Given the description of an element on the screen output the (x, y) to click on. 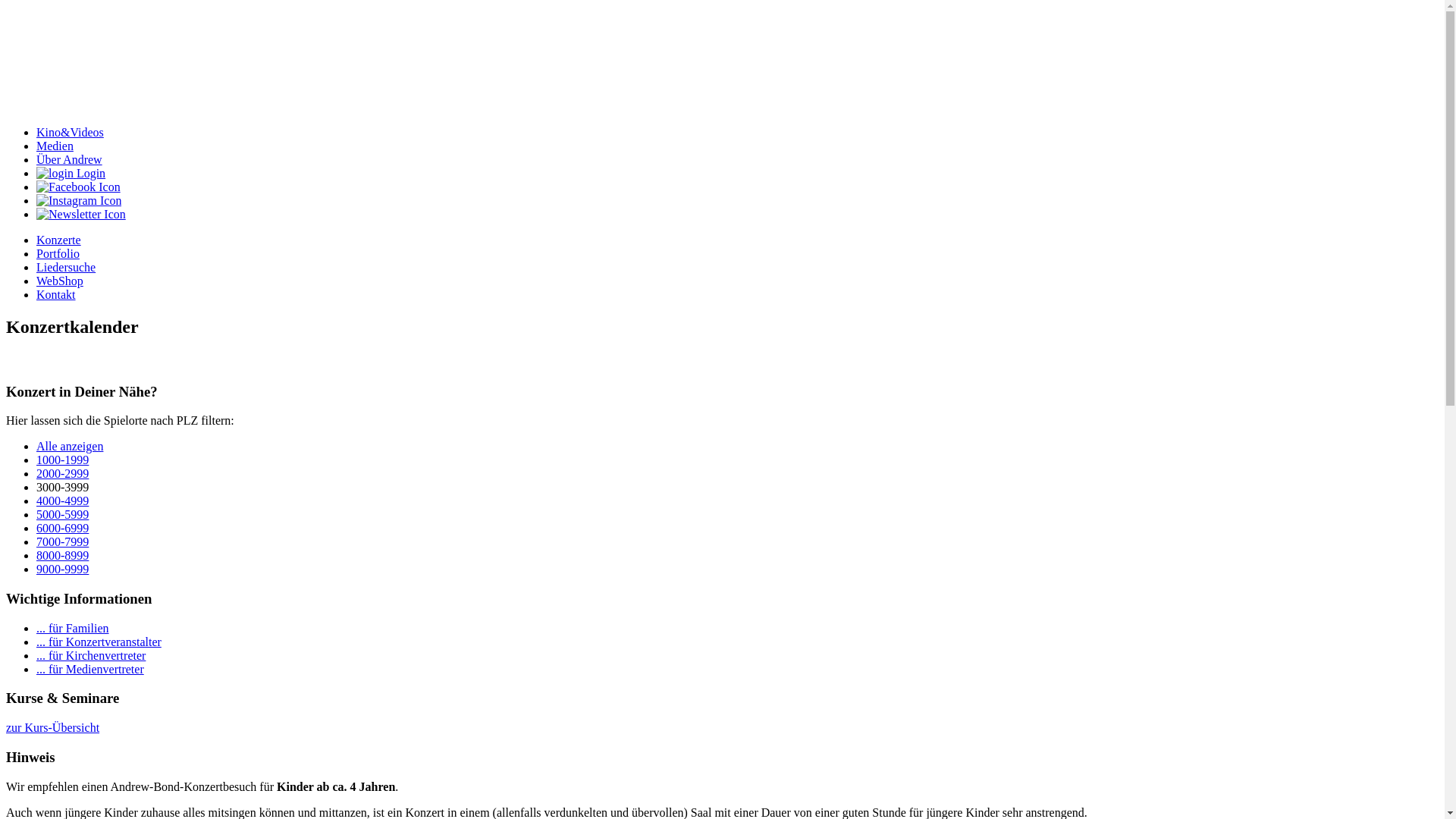
Liedersuche Element type: text (65, 266)
5000-5999 Element type: text (62, 514)
Medien Element type: text (54, 145)
6000-6999 Element type: text (62, 527)
7000-7999 Element type: text (62, 541)
9000-9999 Element type: text (62, 568)
8000-8999 Element type: text (62, 555)
WebShop Element type: text (59, 280)
1000-1999 Element type: text (62, 459)
Portfolio Element type: text (57, 253)
Konzerte Element type: text (58, 239)
Kino&Videos Element type: text (69, 131)
2000-2999 Element type: text (62, 473)
Login Element type: text (70, 172)
Alle anzeigen Element type: text (69, 445)
Kontakt Element type: text (55, 294)
4000-4999 Element type: text (62, 500)
